Given the description of an element on the screen output the (x, y) to click on. 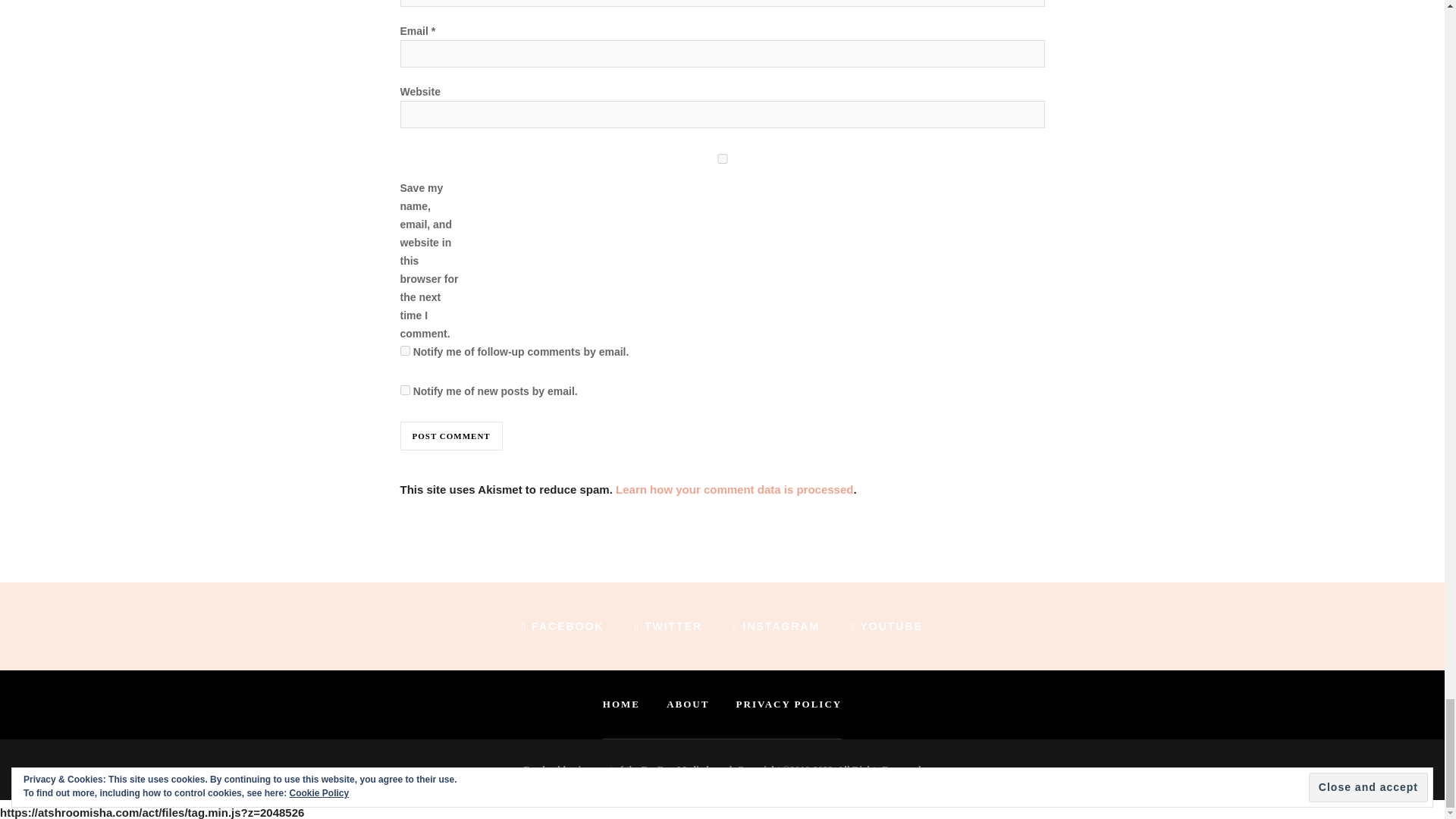
Learn how your comment data is processed (734, 489)
subscribe (405, 389)
yes (722, 158)
Post Comment (451, 435)
subscribe (405, 350)
Post Comment (451, 435)
FACEBOOK (562, 625)
